Given the description of an element on the screen output the (x, y) to click on. 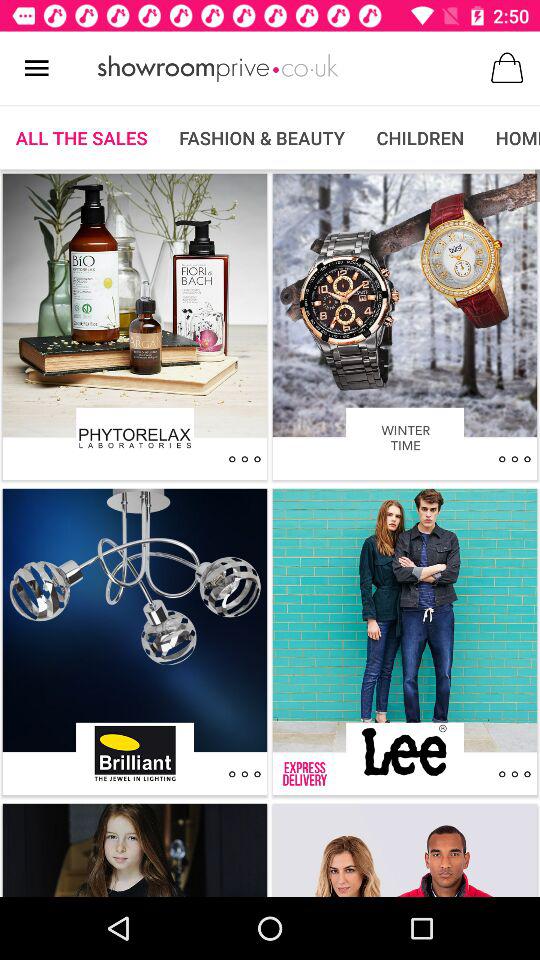
other options (244, 774)
